Given the description of an element on the screen output the (x, y) to click on. 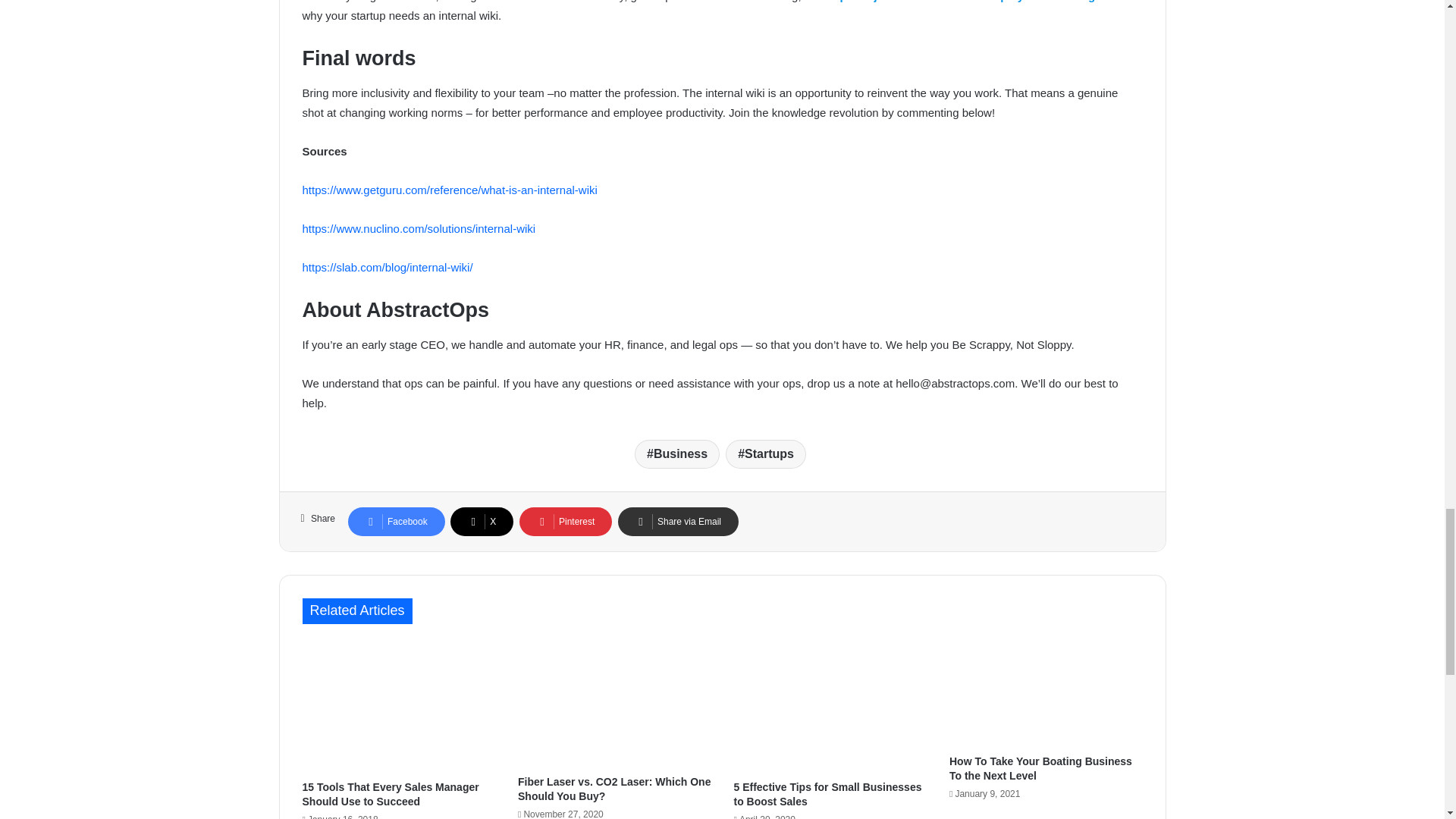
Share via Email (677, 521)
Pinterest (565, 521)
X (481, 521)
Facebook (396, 521)
